Given the description of an element on the screen output the (x, y) to click on. 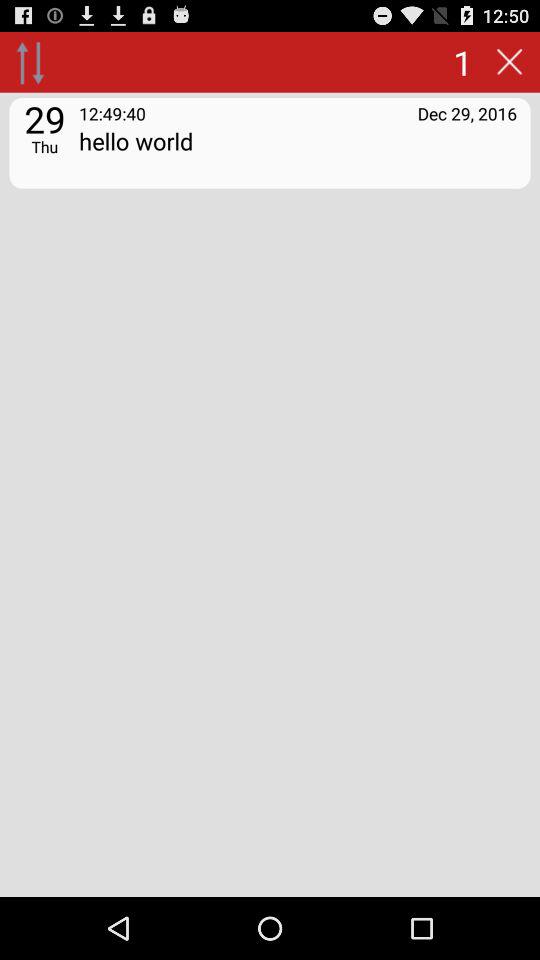
tap the thu (44, 146)
